Given the description of an element on the screen output the (x, y) to click on. 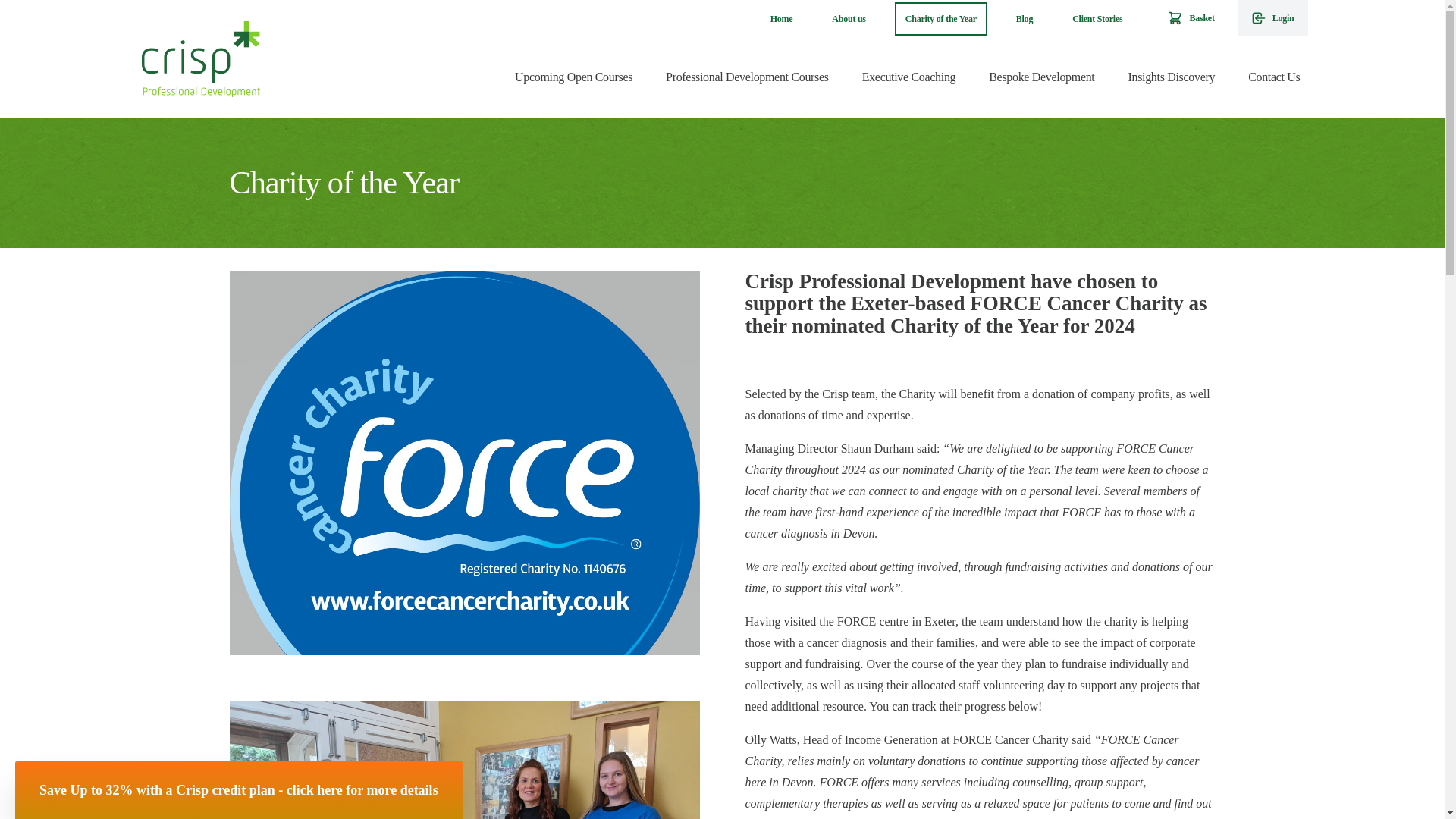
Client Stories (1096, 19)
Blog (1024, 19)
Insights Discovery (1170, 77)
Upcoming Open Courses (573, 77)
Basket (1190, 18)
Bespoke Development (1041, 77)
Login (1272, 18)
Home (781, 19)
About us (848, 19)
